Given the description of an element on the screen output the (x, y) to click on. 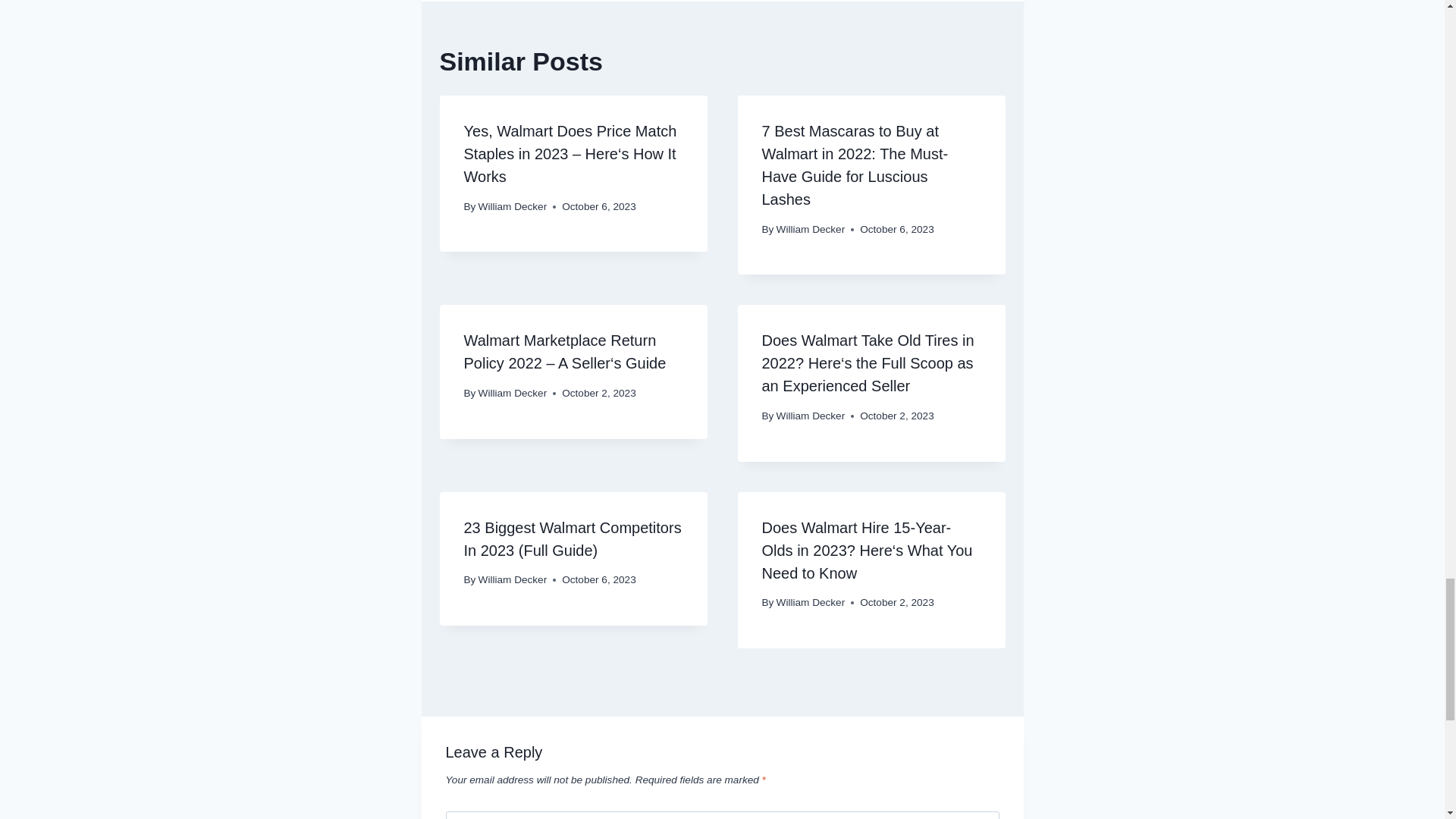
William Decker (513, 392)
William Decker (810, 415)
William Decker (513, 579)
William Decker (810, 229)
William Decker (513, 206)
